Given the description of an element on the screen output the (x, y) to click on. 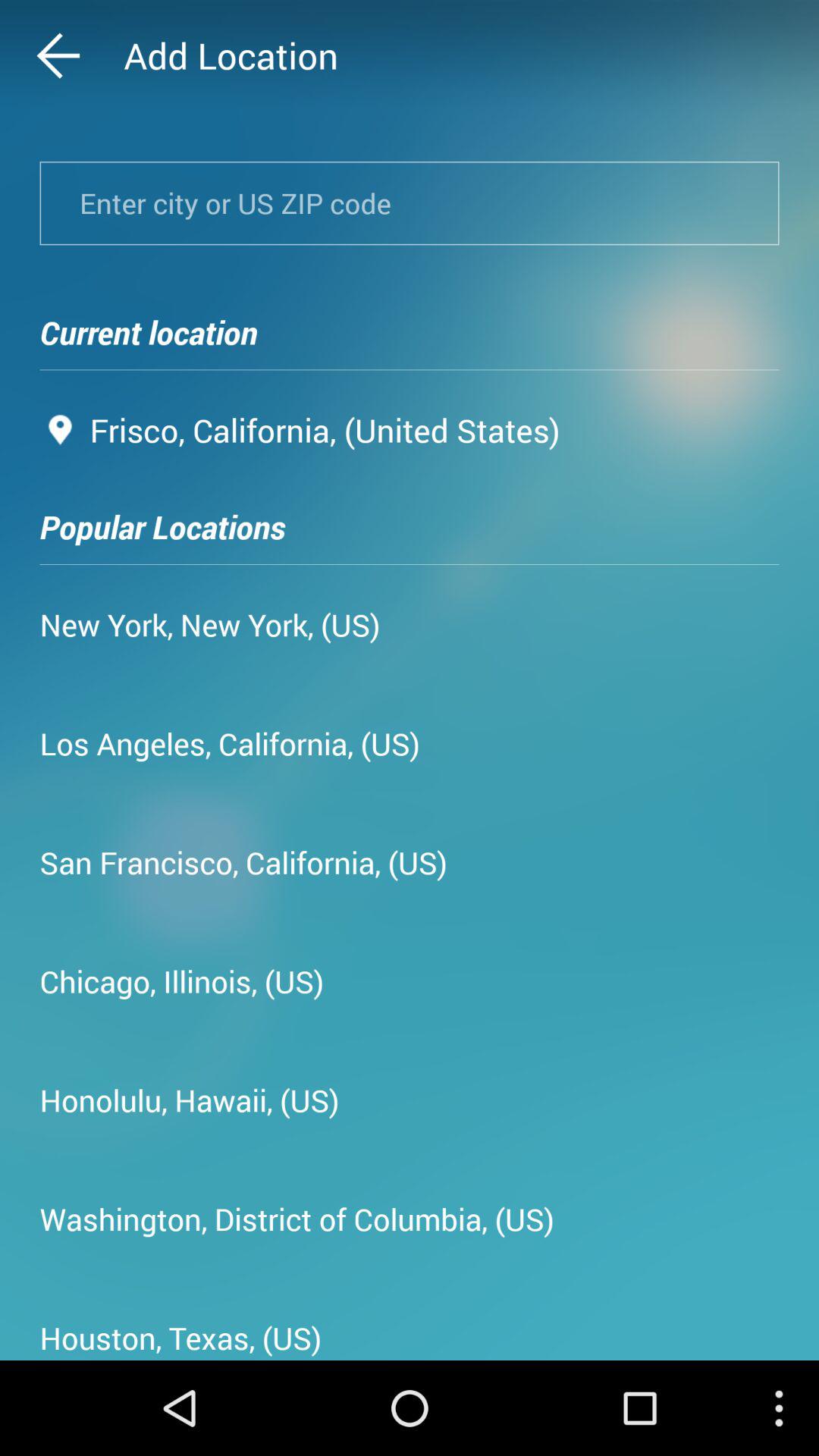
tap chicago, illinois, (us) (182, 980)
